Given the description of an element on the screen output the (x, y) to click on. 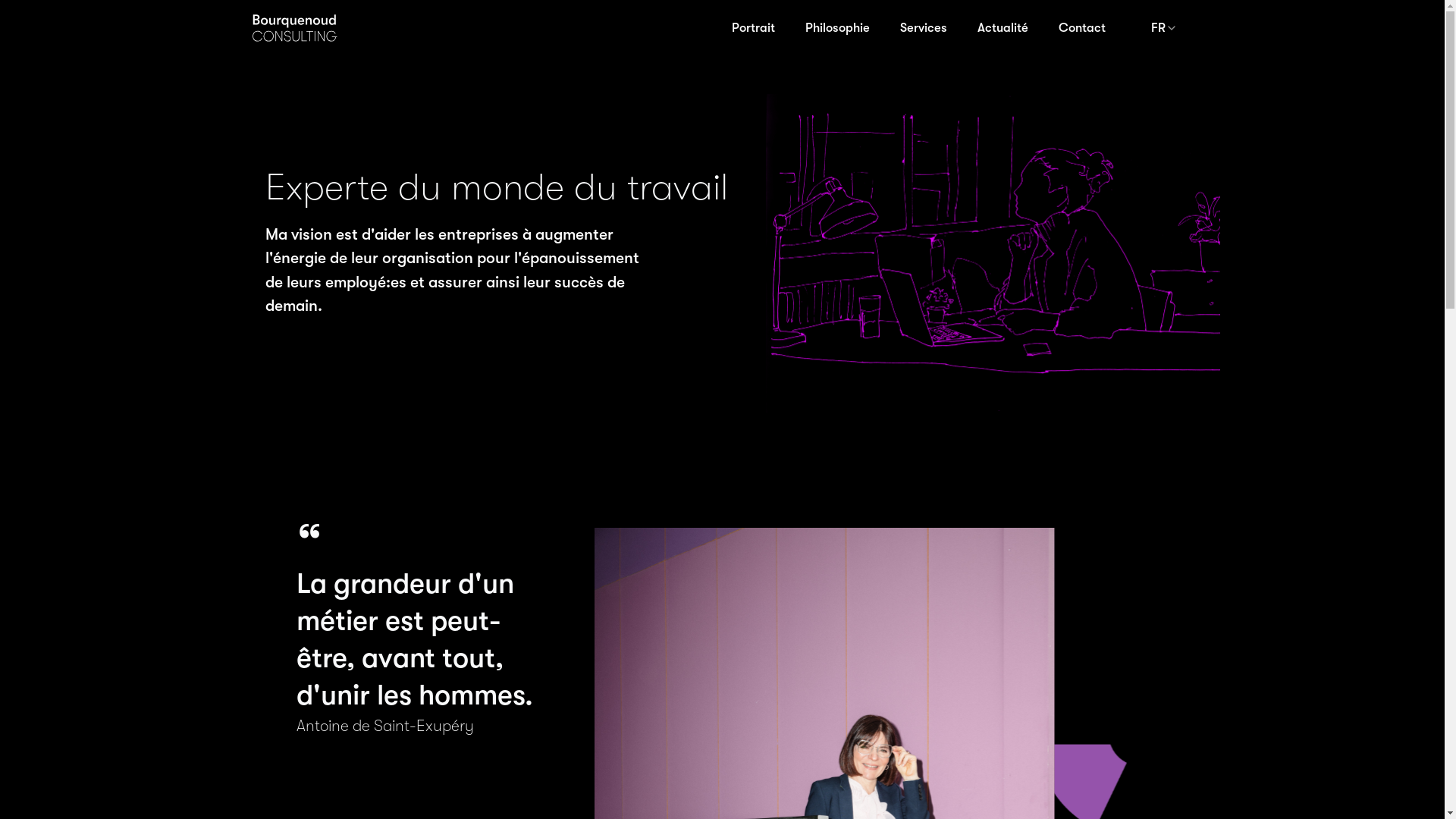
Portrait Element type: text (752, 27)
Services Element type: text (922, 27)
Philosophie Element type: text (837, 27)
Contact Element type: text (1081, 27)
